Given the description of an element on the screen output the (x, y) to click on. 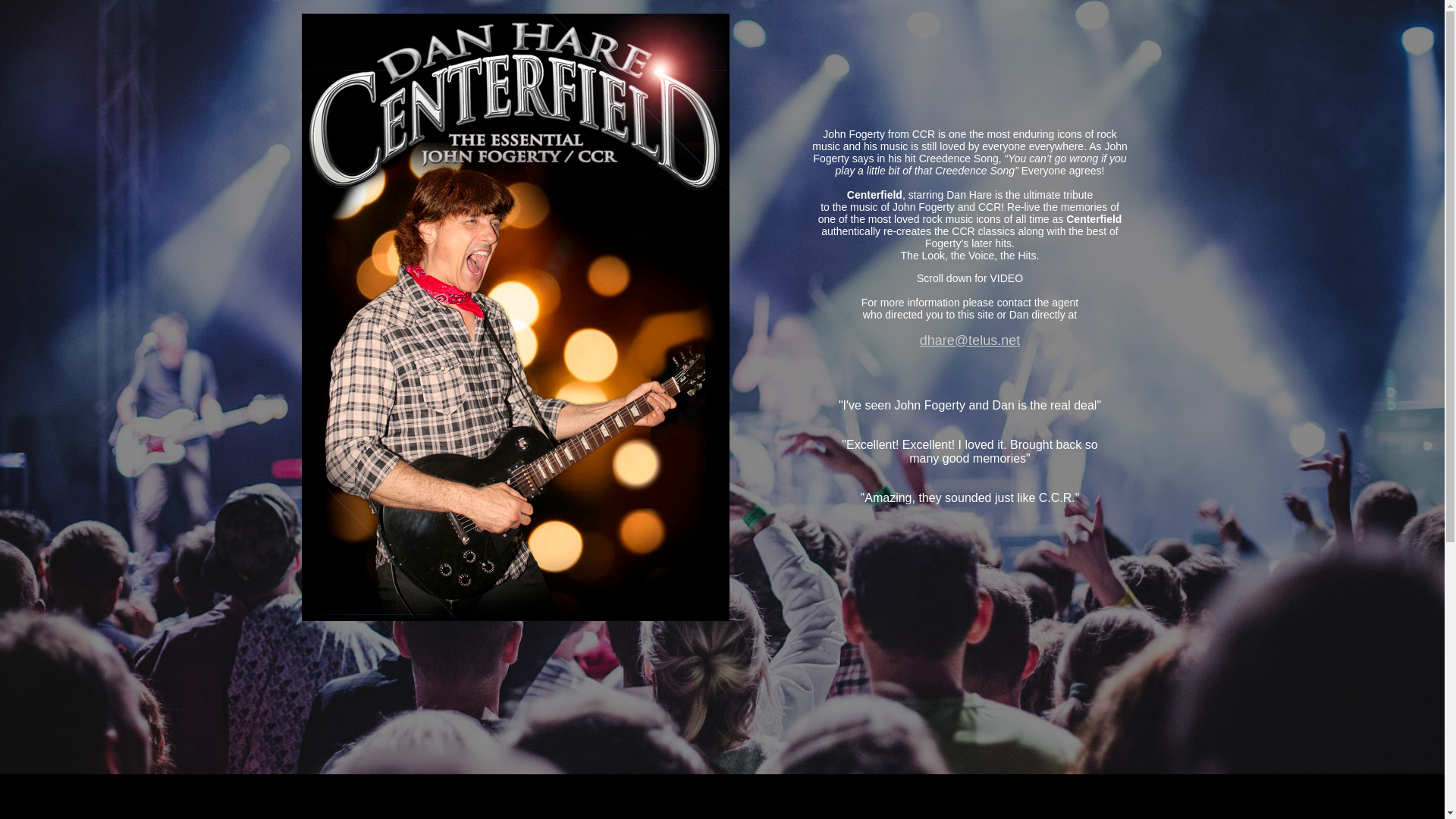
dhare@telus.net Element type: text (969, 340)
